Given the description of an element on the screen output the (x, y) to click on. 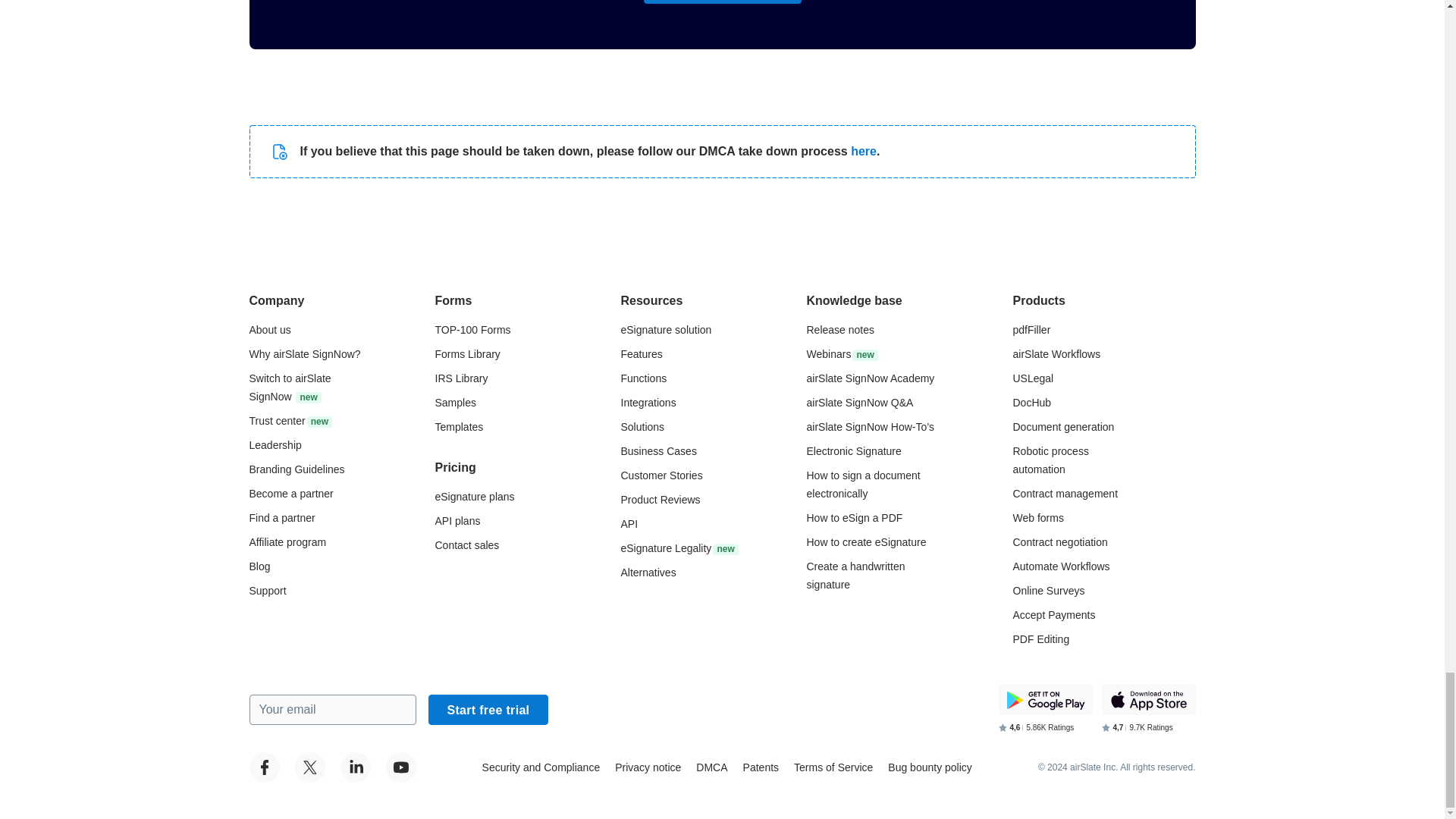
Go to the Brand page (295, 469)
Go to the Why  airSlate signNow ? page (303, 354)
Go to the  airSlate signNow  forms library page (467, 354)
Go to the  airSlate signNow  API pricing page (457, 521)
Go to the  airSlate signNow  irs library page (461, 378)
Go to the  airSlate signNow  templates page (459, 426)
Go to the airSlate partner portal (290, 493)
Go to the support center (266, 590)
Go to the top 100 forms page (473, 329)
Go to the About Us page (268, 329)
